Given the description of an element on the screen output the (x, y) to click on. 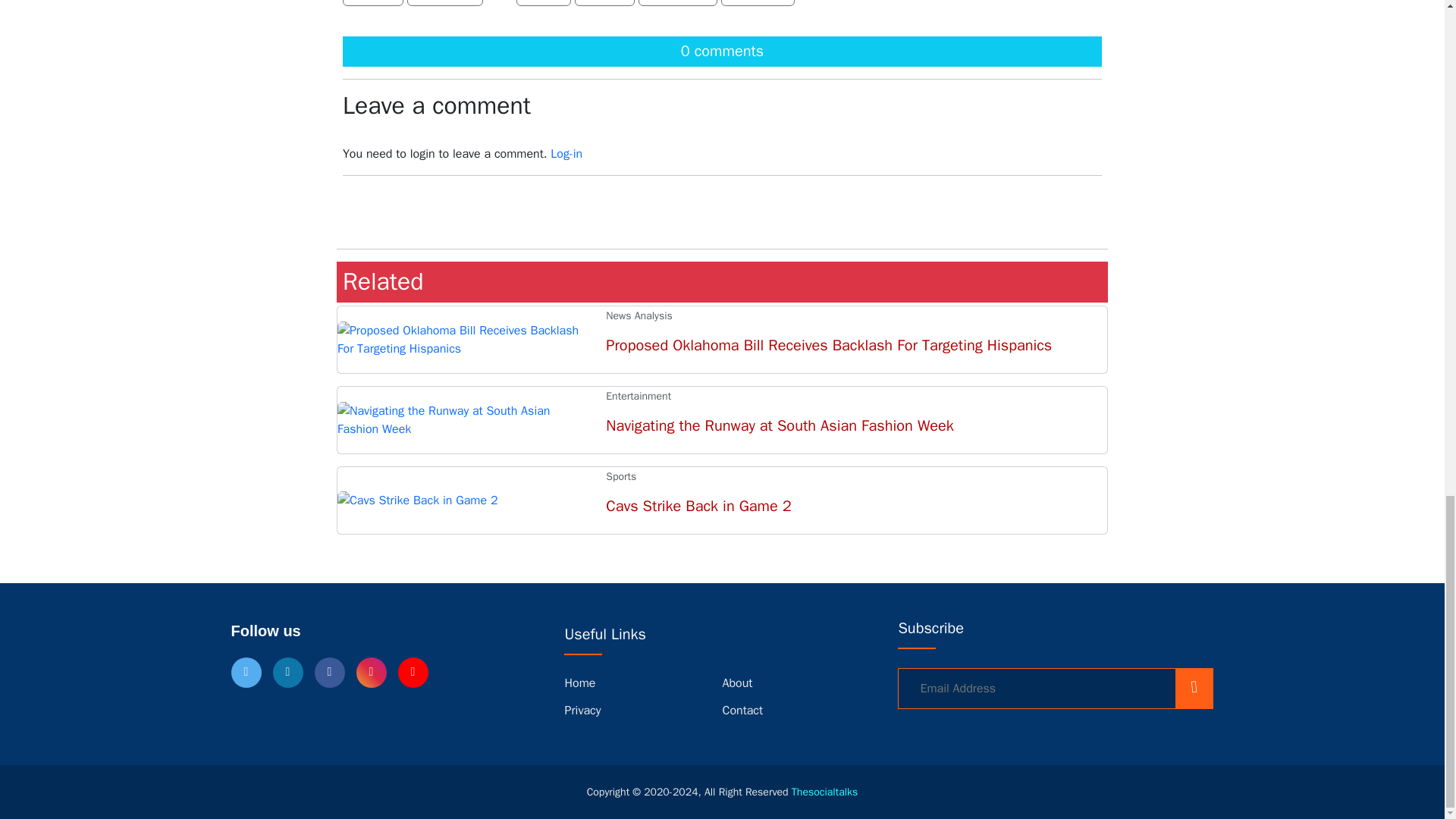
Email (543, 2)
Twitter (372, 2)
Facebook (445, 2)
Log-in (566, 153)
Telegram (757, 2)
Reddit (604, 2)
WhatsApp (678, 2)
